Given the description of an element on the screen output the (x, y) to click on. 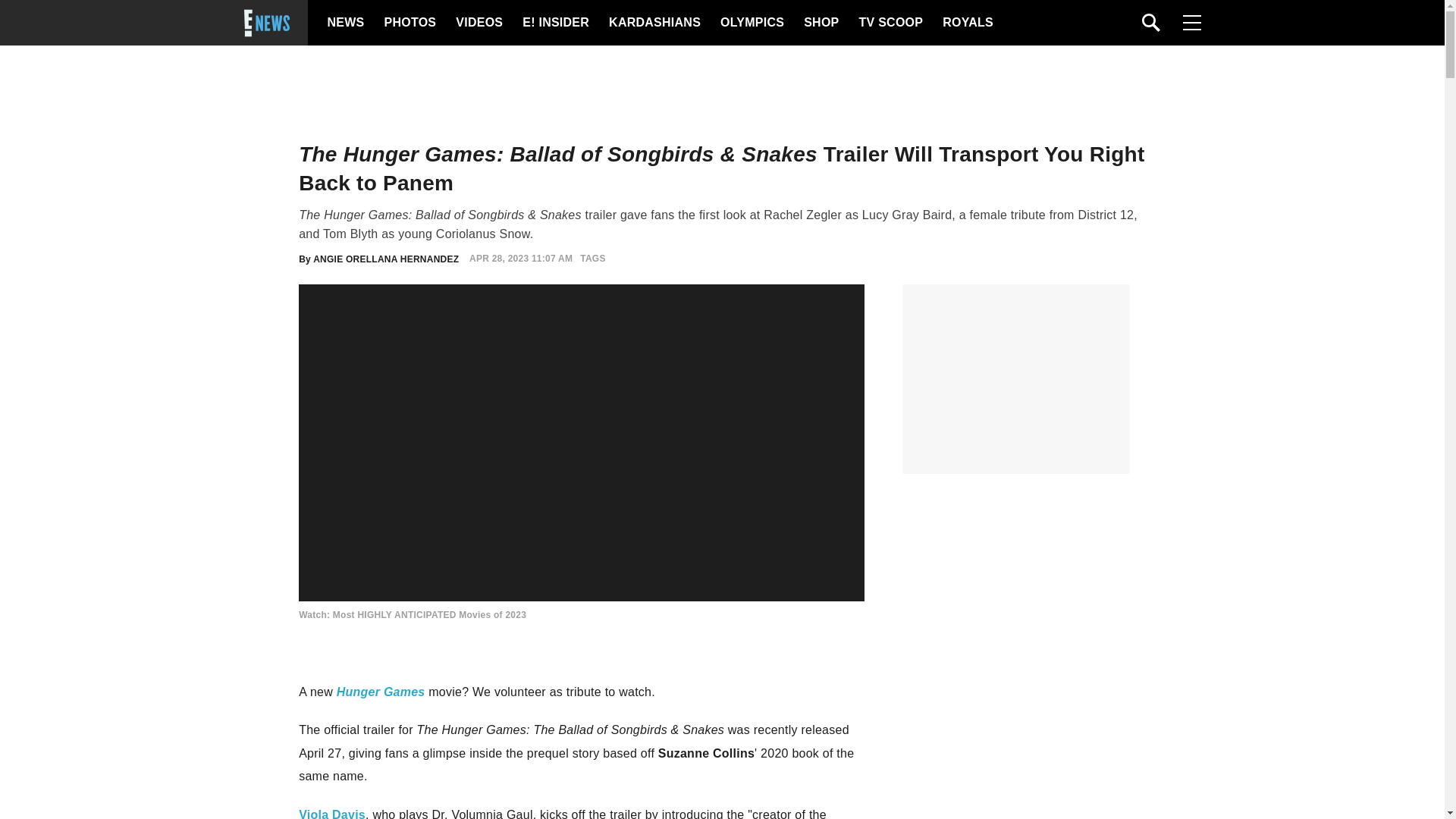
KARDASHIANS (653, 22)
PHOTOS (408, 22)
E! INSIDER (555, 22)
TV SCOOP (890, 22)
Hunger Games (380, 691)
NEWS (345, 22)
VIDEOS (478, 22)
OLYMPICS (751, 22)
ROYALS (966, 22)
SHOP (820, 22)
